Given the description of an element on the screen output the (x, y) to click on. 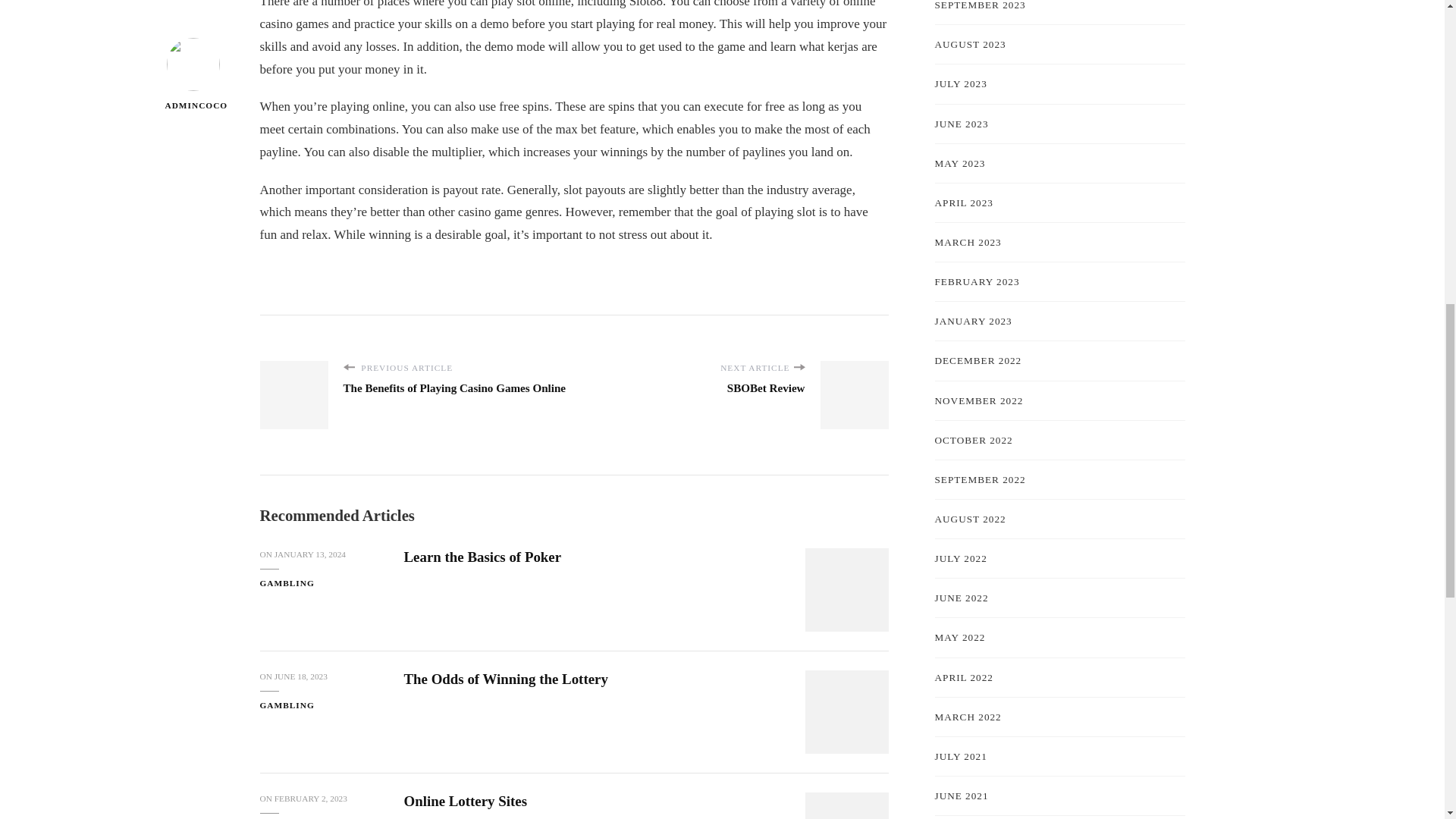
JULY 2023 (960, 83)
JUNE 18, 2023 (301, 676)
JANUARY 13, 2024 (310, 554)
SEPTEMBER 2023 (979, 6)
GAMBLING (286, 583)
The Odds of Winning the Lottery (505, 678)
Learn the Basics of Poker (481, 556)
GAMBLING (286, 705)
AUGUST 2023 (970, 44)
Online Lottery Sites (465, 801)
